Given the description of an element on the screen output the (x, y) to click on. 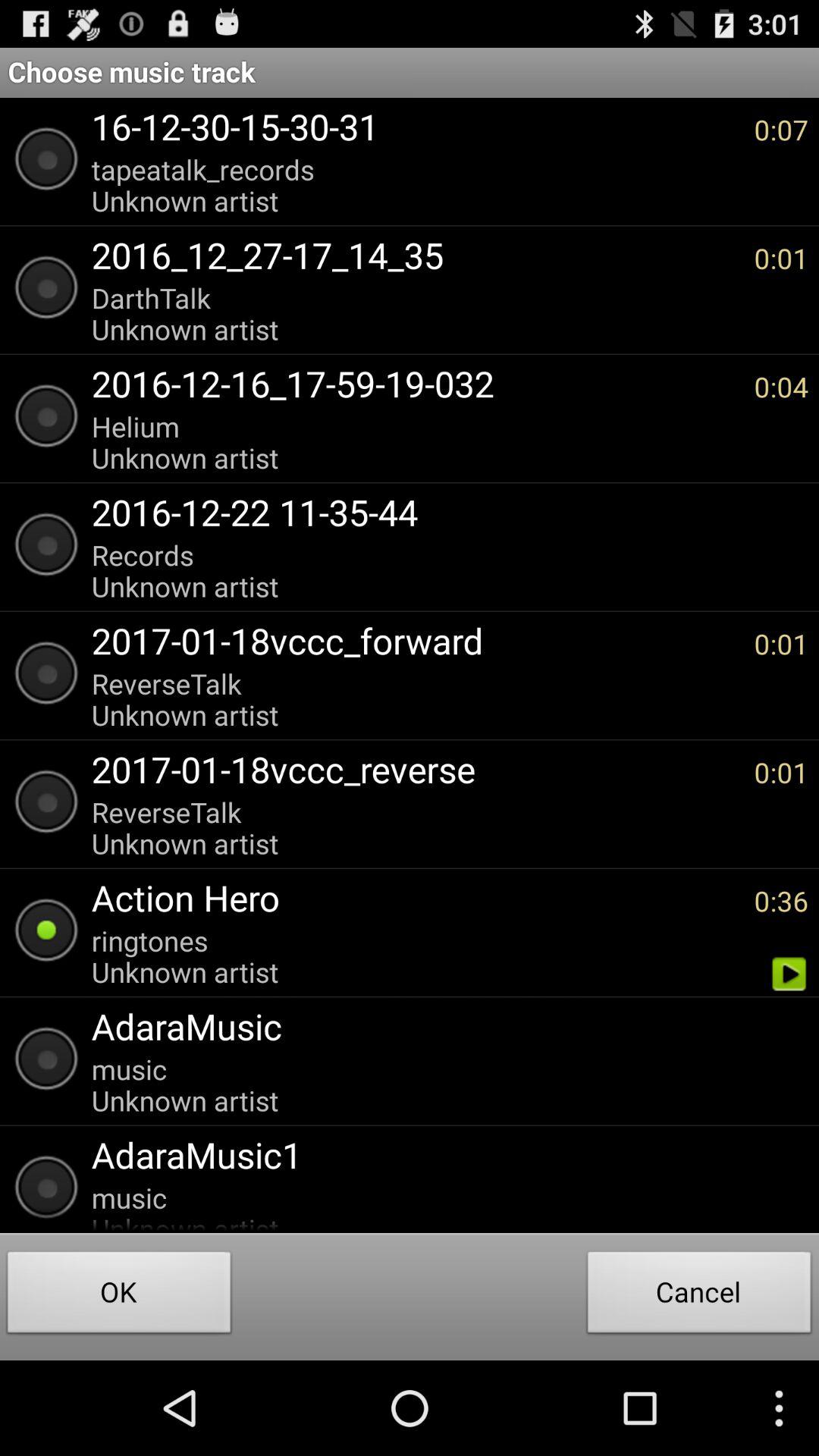
open the item to the left of 0:07 item (414, 185)
